Given the description of an element on the screen output the (x, y) to click on. 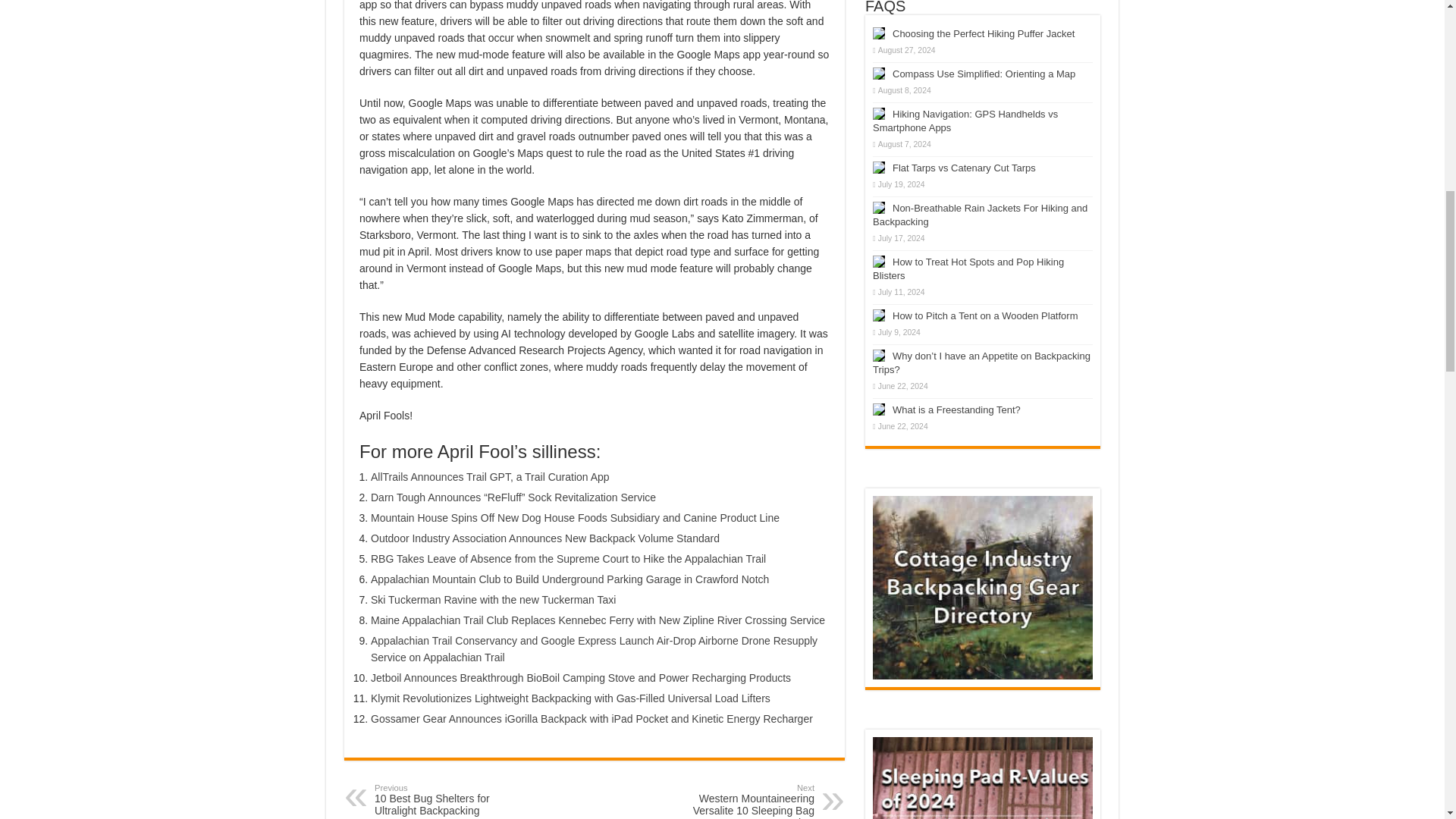
AllTrails Announces Trail GPT, a Trail Curation App (490, 476)
Scroll To Top (1421, 60)
